Given the description of an element on the screen output the (x, y) to click on. 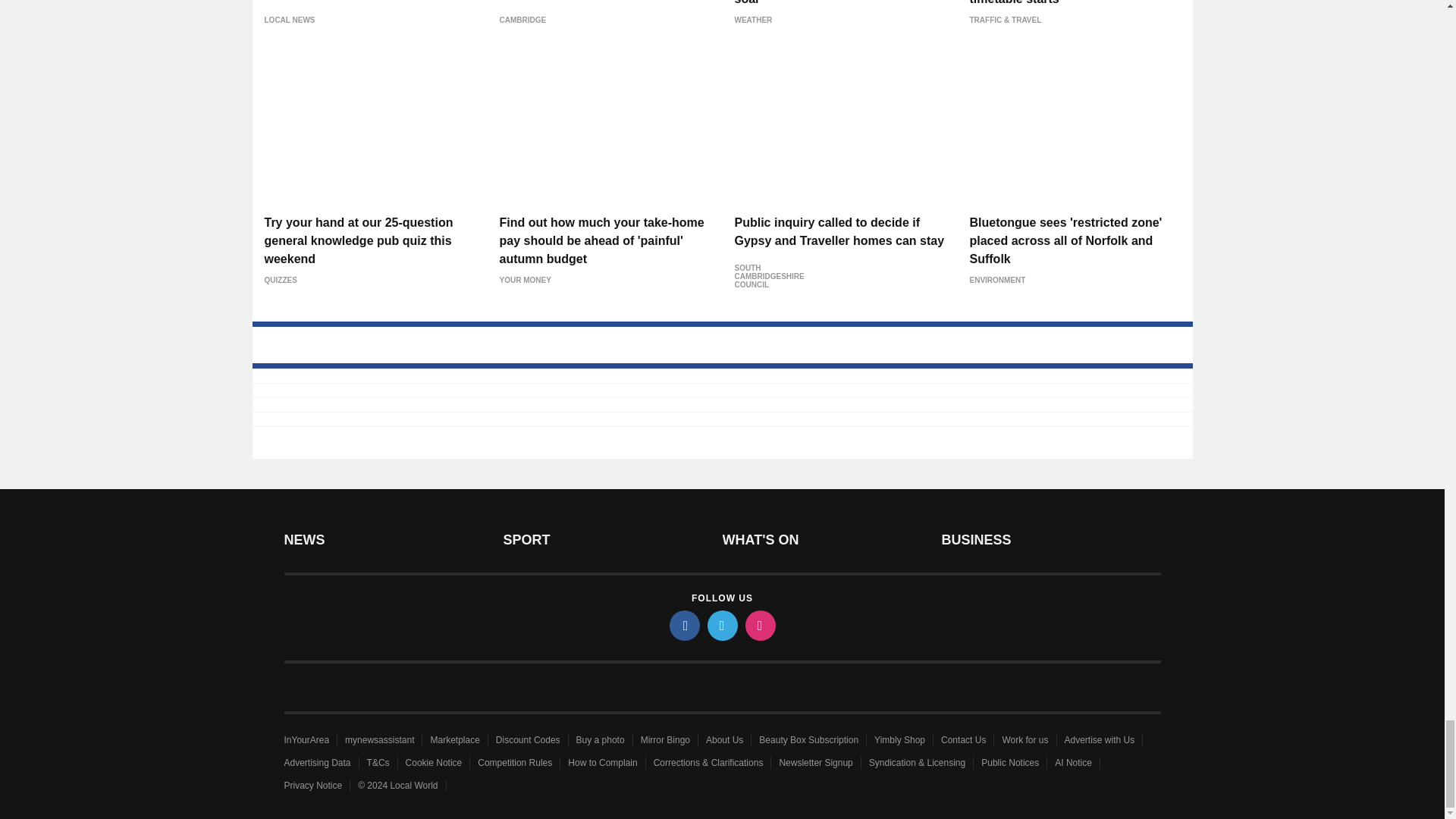
facebook (683, 625)
twitter (721, 625)
instagram (759, 625)
